Given the description of an element on the screen output the (x, y) to click on. 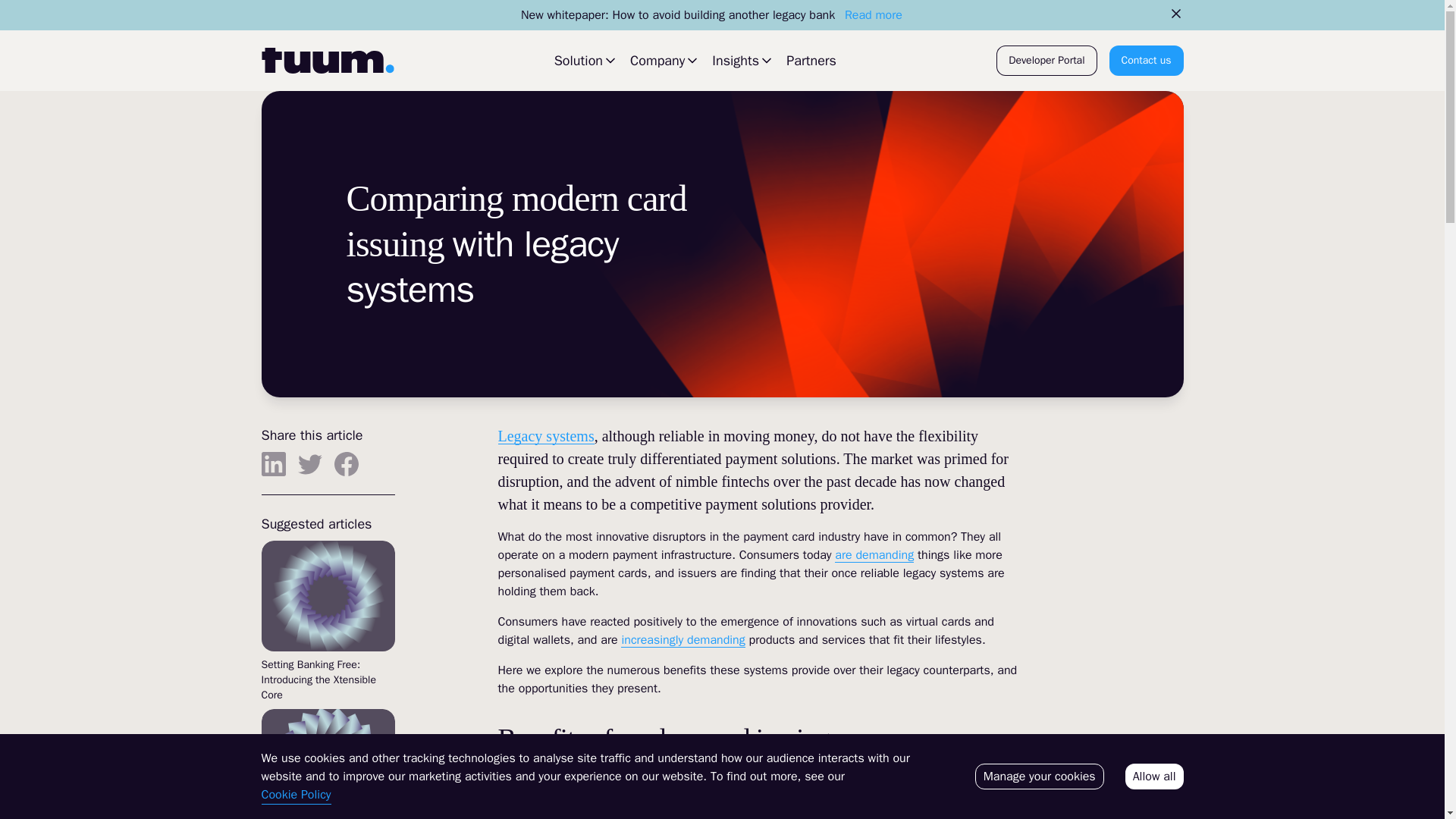
Contact us (1146, 60)
Partners (810, 60)
Company (665, 60)
Tuum logo (326, 60)
Developer Portal (1045, 60)
Read more (873, 14)
Insights (742, 60)
Solution (585, 60)
